Given the description of an element on the screen output the (x, y) to click on. 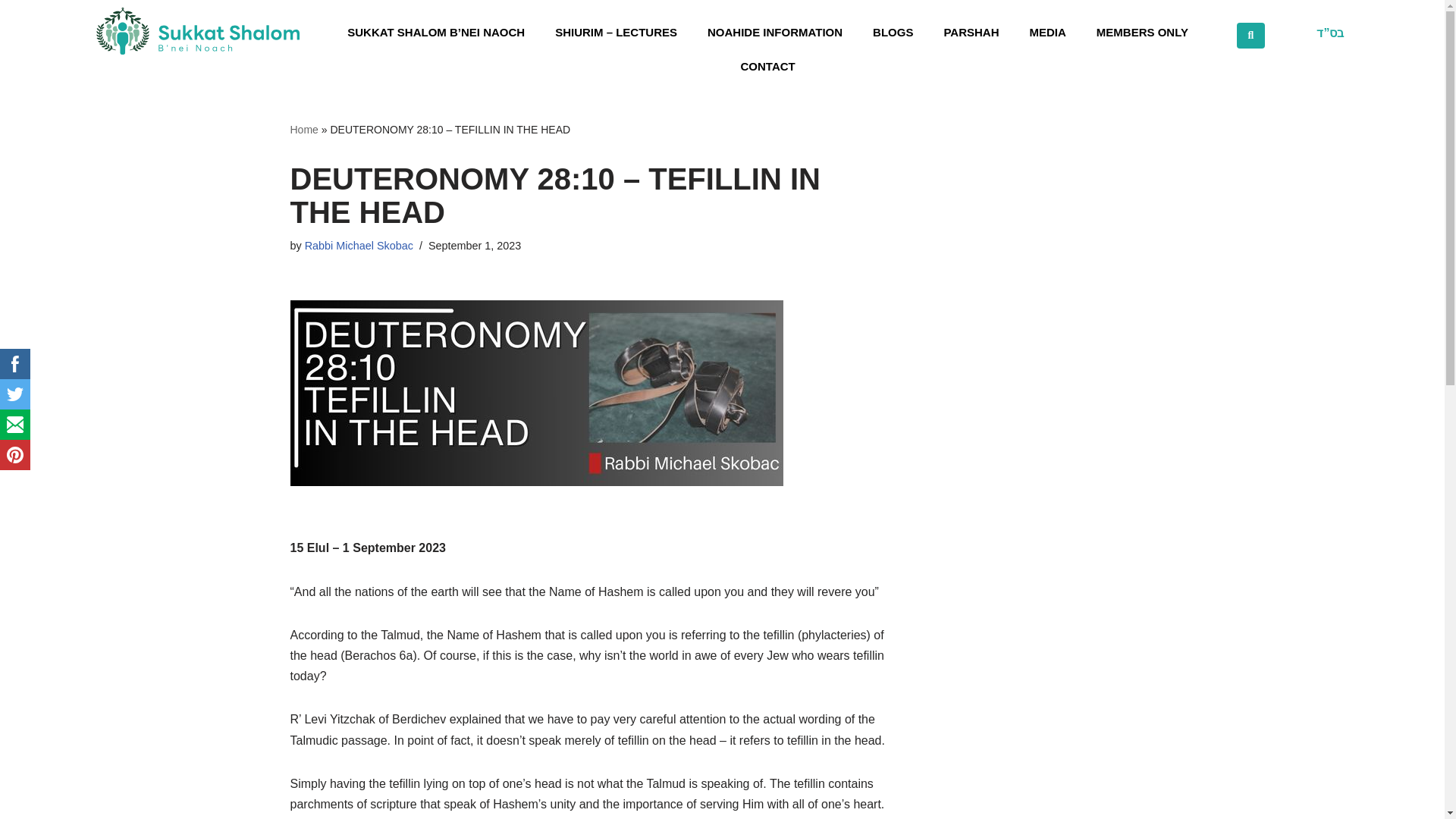
Posts by Rabbi Michael Skobac (358, 245)
PARSHAH (974, 32)
BLOGS (896, 32)
NOAHIDE INFORMATION (778, 32)
Skip to content (11, 31)
